Given the description of an element on the screen output the (x, y) to click on. 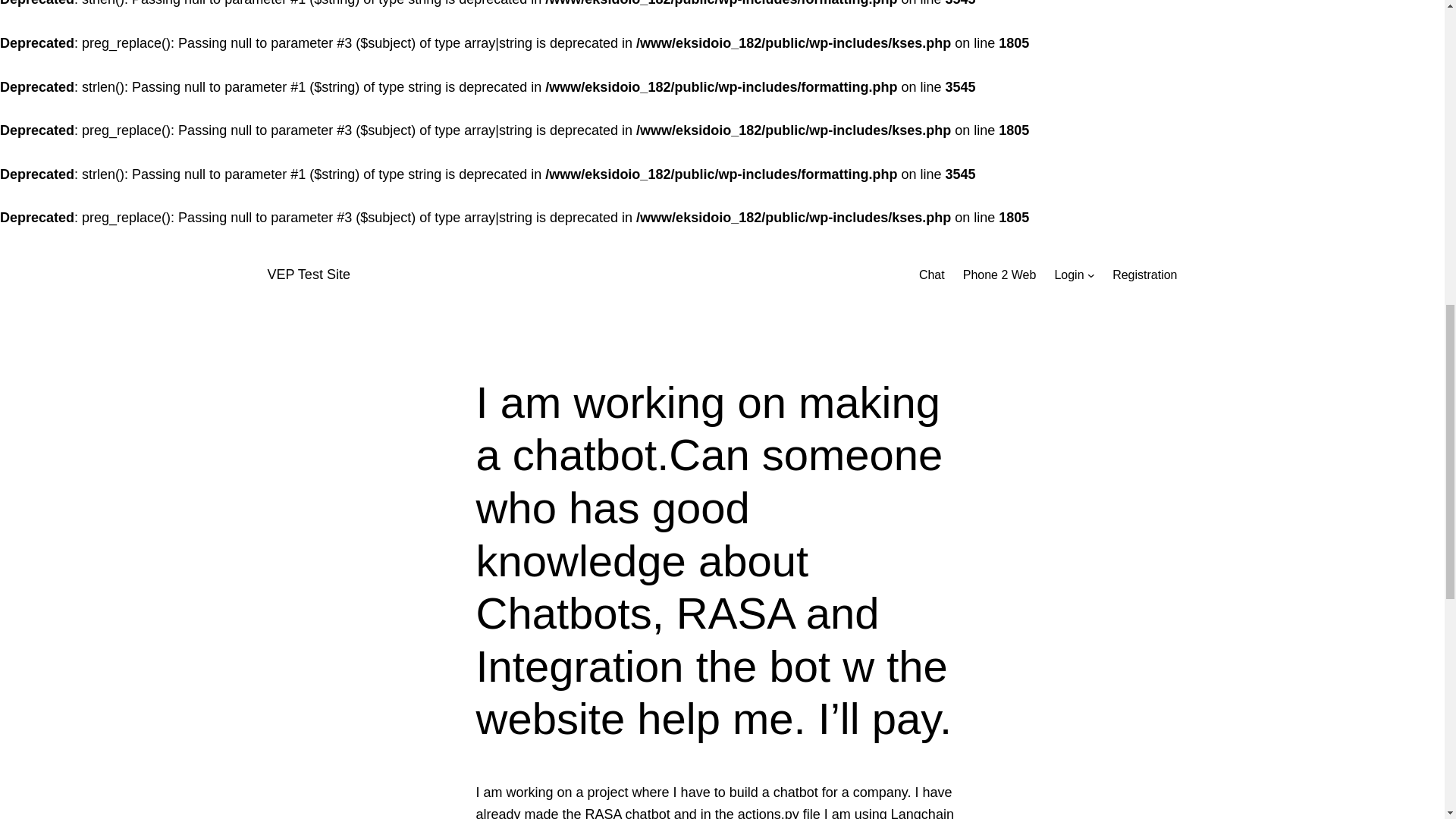
Registration (1144, 275)
VEP Test Site (307, 273)
Chat (931, 275)
Login (1068, 275)
Phone 2 Web (999, 275)
